Given the description of an element on the screen output the (x, y) to click on. 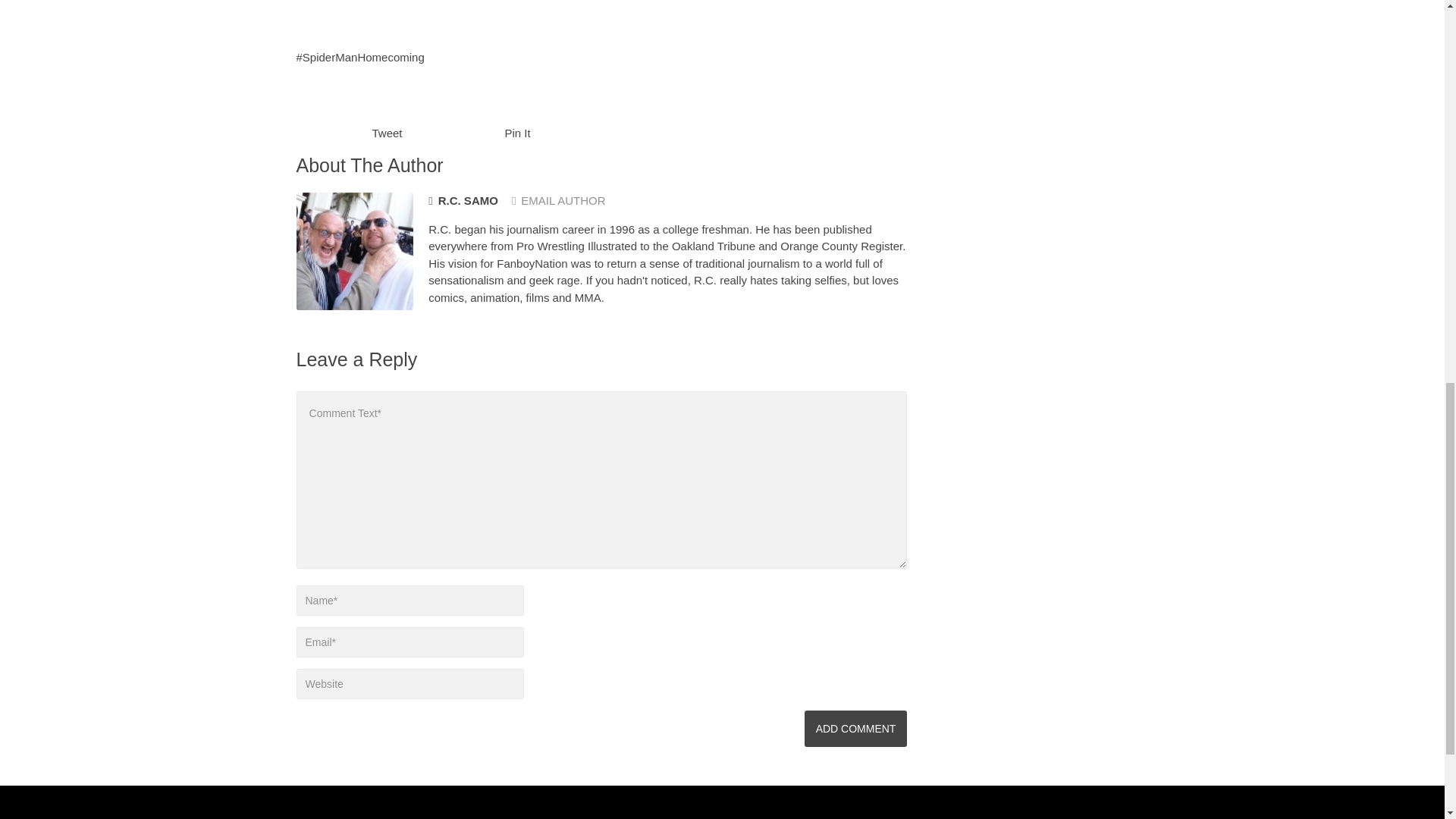
Add Comment (856, 728)
